Given the description of an element on the screen output the (x, y) to click on. 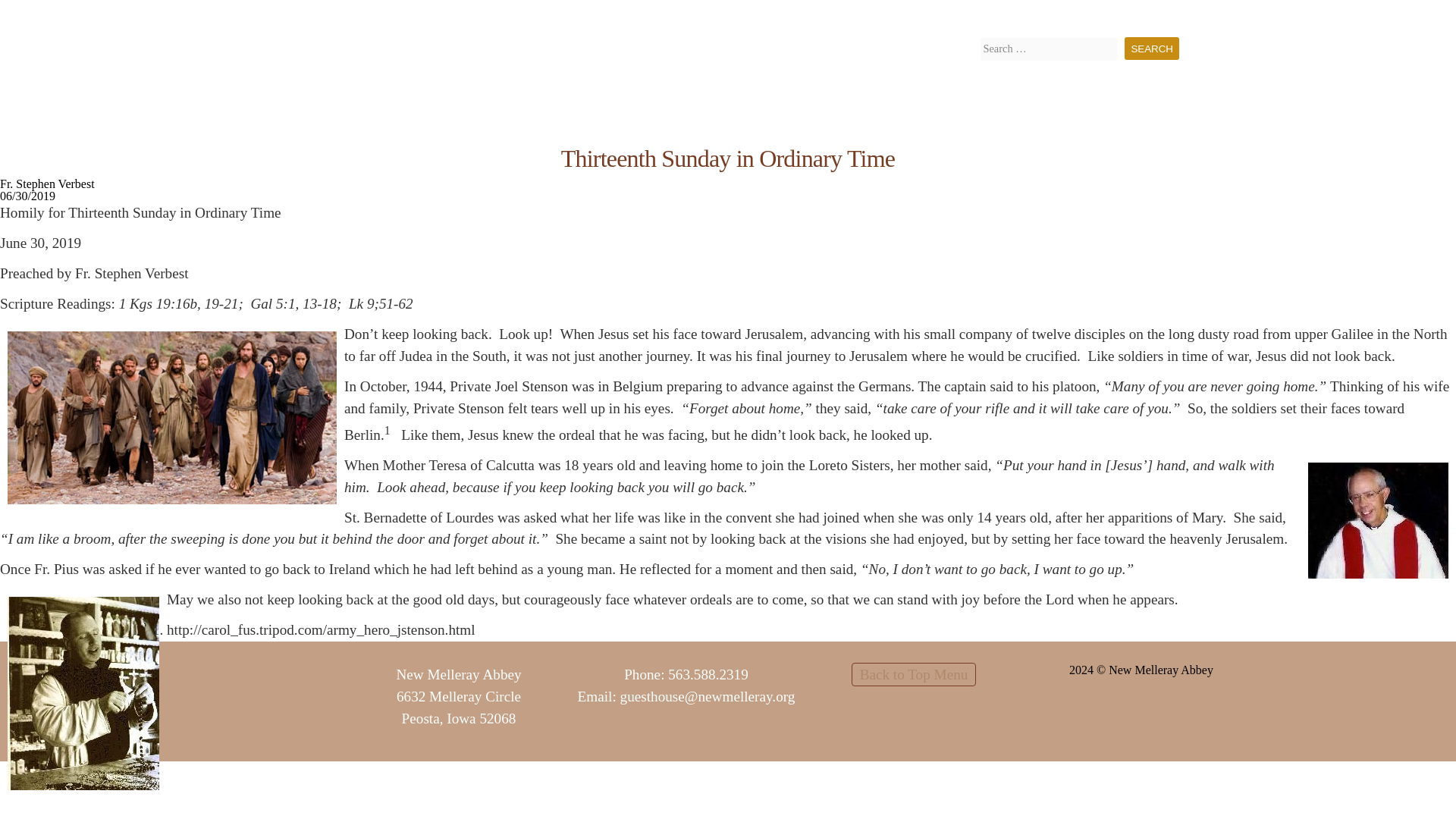
Prayer (750, 118)
Community (824, 118)
Search (1151, 47)
Chapter Talks (1051, 21)
Homilies (982, 21)
Search (1151, 47)
Contact (1158, 21)
News (1112, 21)
Our Life (688, 118)
Search (1151, 47)
